Given the description of an element on the screen output the (x, y) to click on. 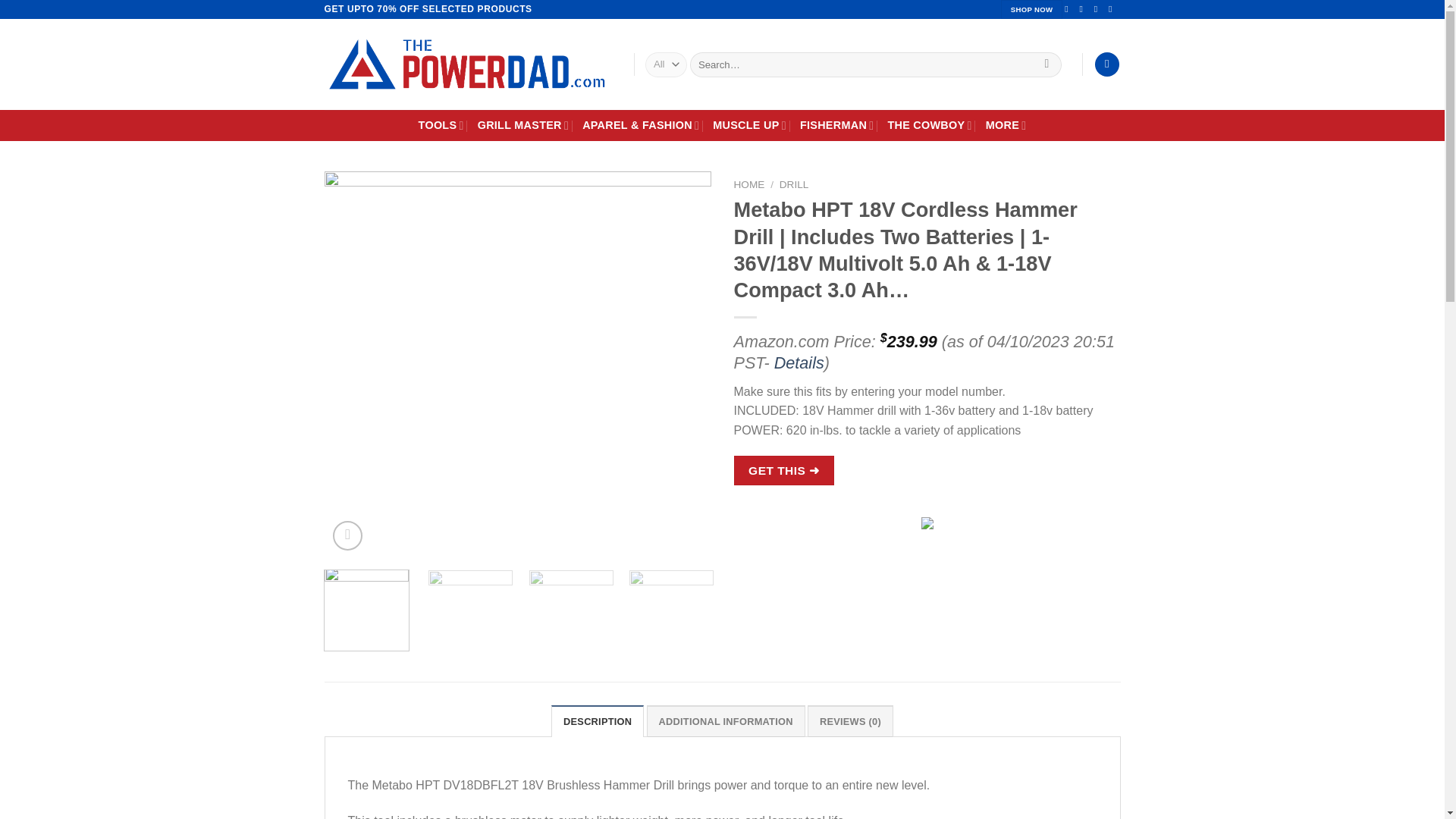
TOOLS (441, 124)
Search (1046, 63)
Cart (1106, 64)
SHOP NOW (1031, 9)
Zoom (347, 535)
